Given the description of an element on the screen output the (x, y) to click on. 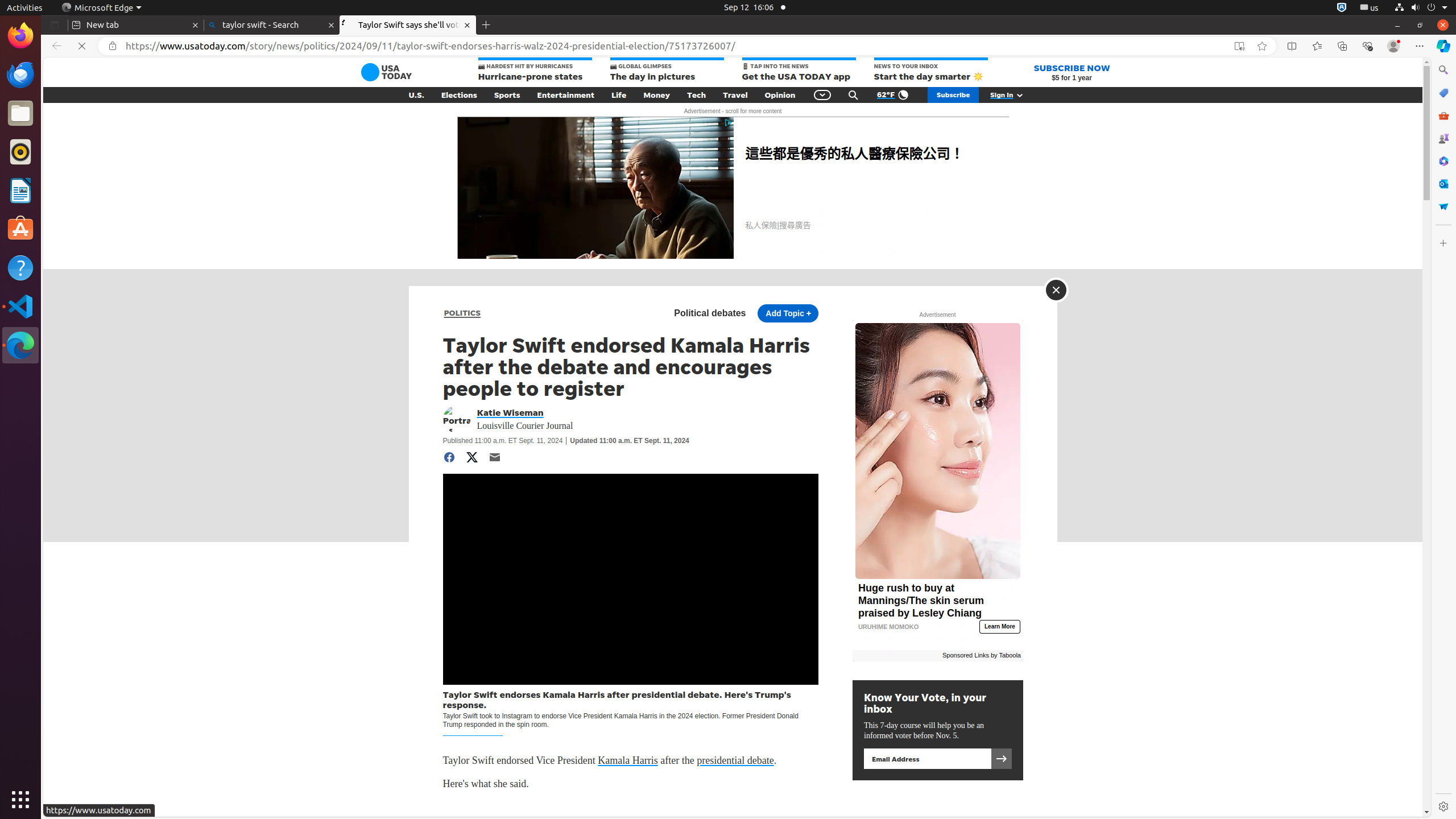
Enter Immersive Reader (F9) Element type: push-button (1238, 46)
:1.21/StatusNotifierItem Element type: menu (1369, 7)
Rhythmbox Element type: push-button (20, 151)
View site information Element type: push-button (112, 46)
Skip to main content Element type: push-button (344, 72)
